Given the description of an element on the screen output the (x, y) to click on. 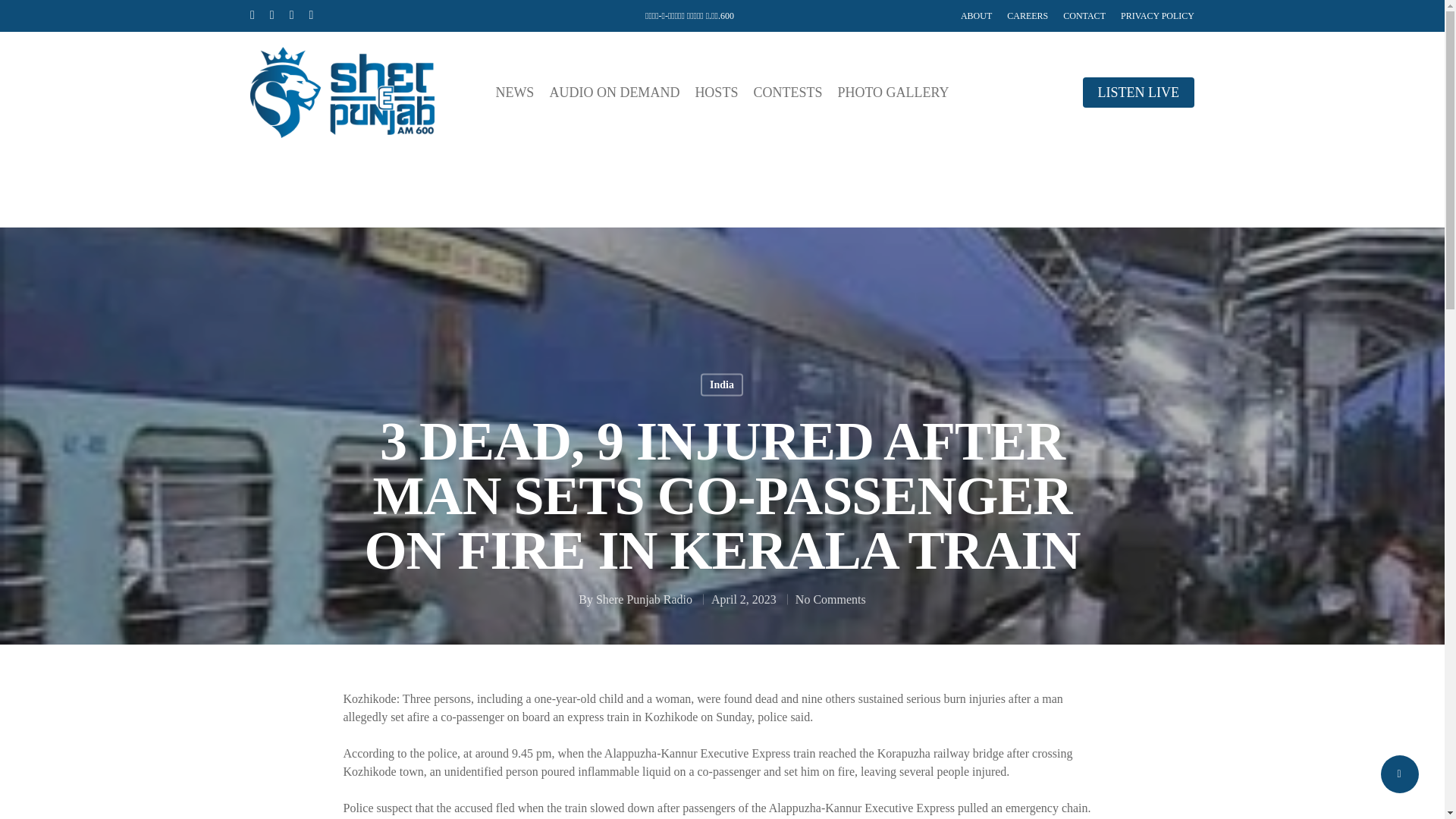
Shere Punjab Radio (644, 599)
CONTACT (1083, 15)
CAREERS (1027, 15)
LISTEN LIVE (1138, 92)
PRIVACY POLICY (1157, 15)
PHOTO GALLERY (893, 92)
NEWS (514, 92)
CONTESTS (787, 92)
ABOUT (975, 15)
HOSTS (716, 92)
Posts by Shere Punjab Radio (644, 599)
No Comments (830, 599)
AUDIO ON DEMAND (613, 92)
India (721, 384)
